Given the description of an element on the screen output the (x, y) to click on. 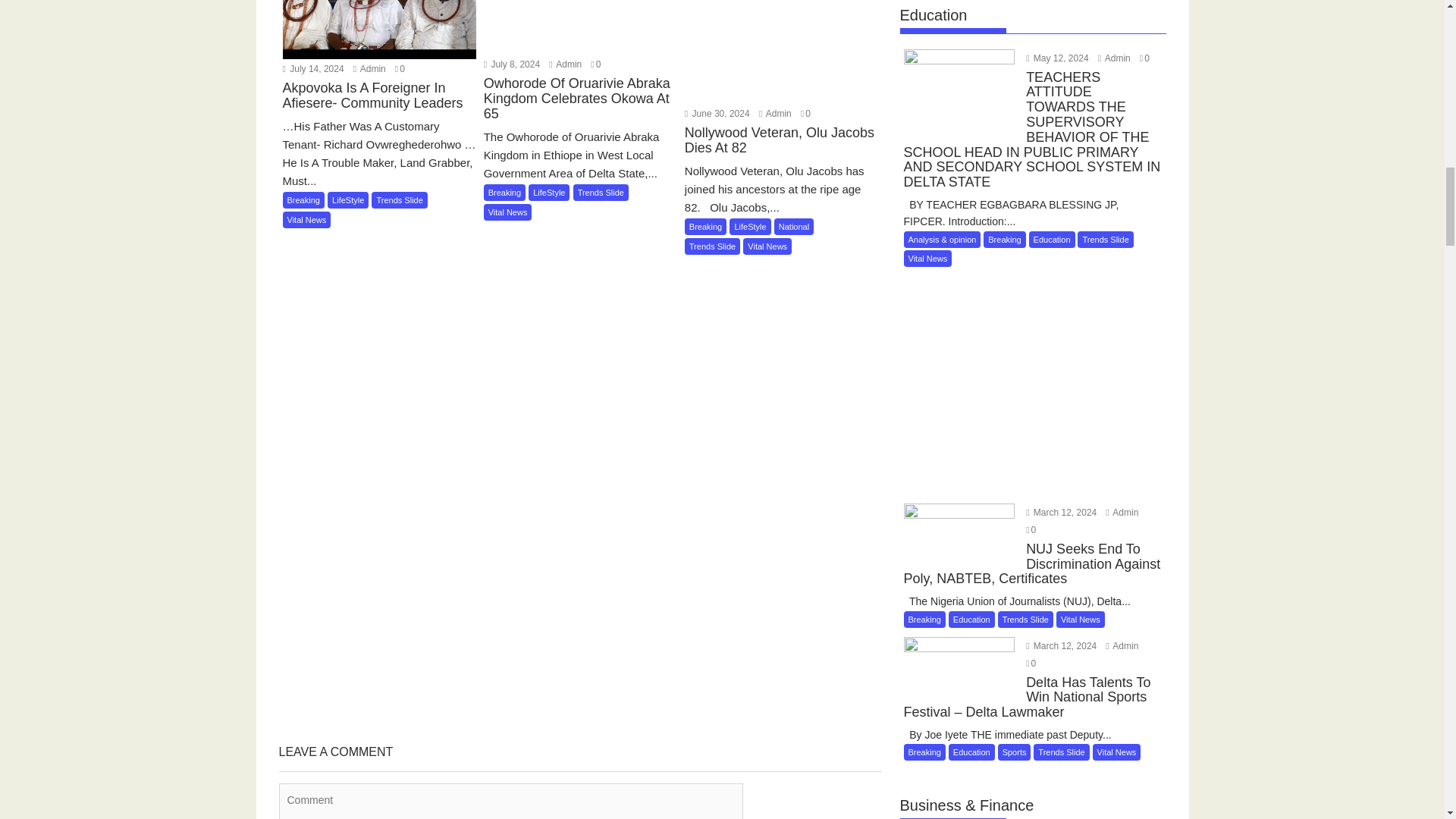
Admin (369, 68)
LifeStyle (347, 199)
July 14, 2024 (312, 68)
Trends Slide (398, 199)
Breaking (302, 199)
Akpovoka Is A Foreigner In Afiesere- Community Leaders (379, 106)
0 (399, 68)
Vital News (306, 219)
